Given the description of an element on the screen output the (x, y) to click on. 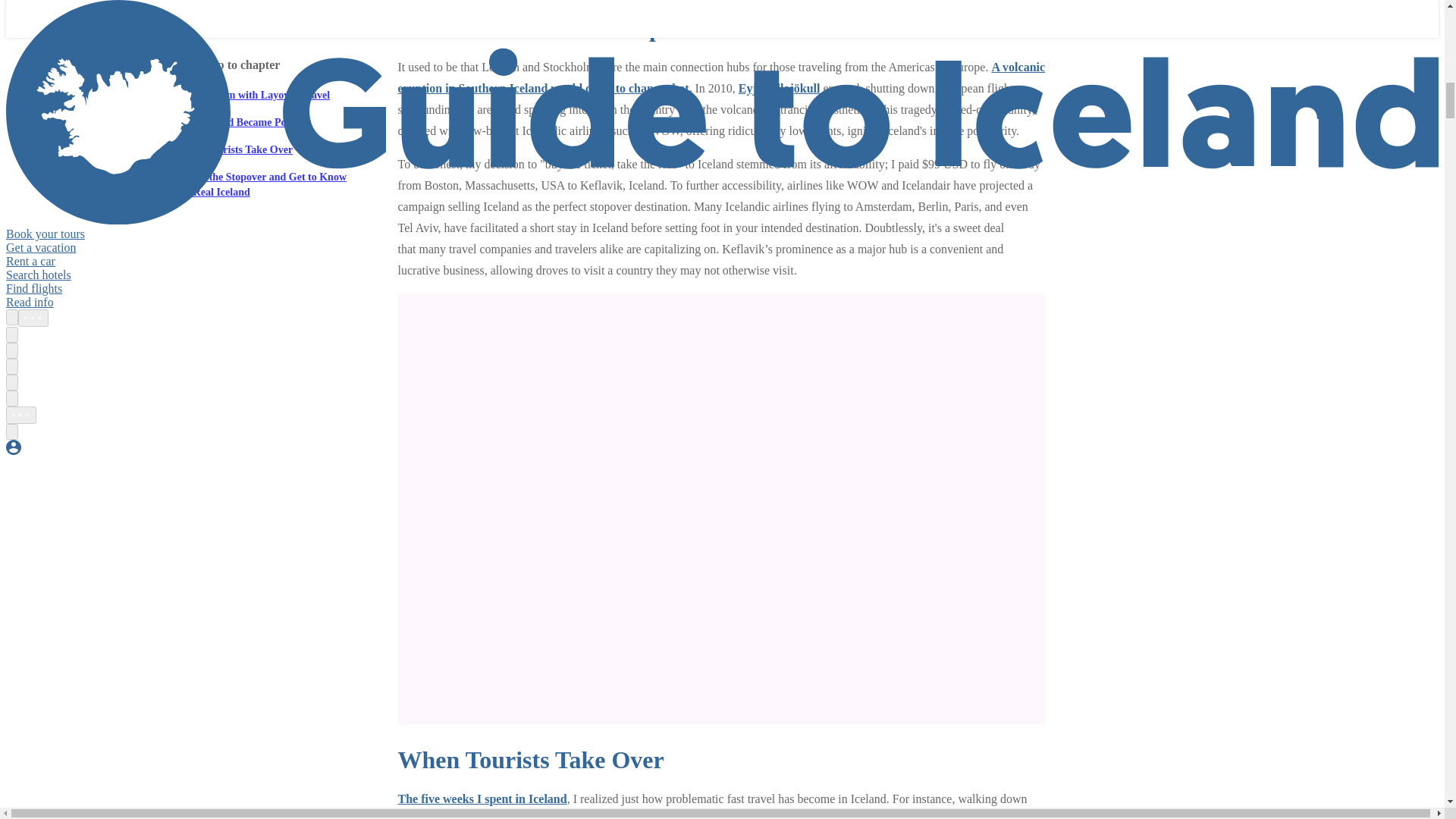
The five weeks I spent in Iceland (481, 798)
